Given the description of an element on the screen output the (x, y) to click on. 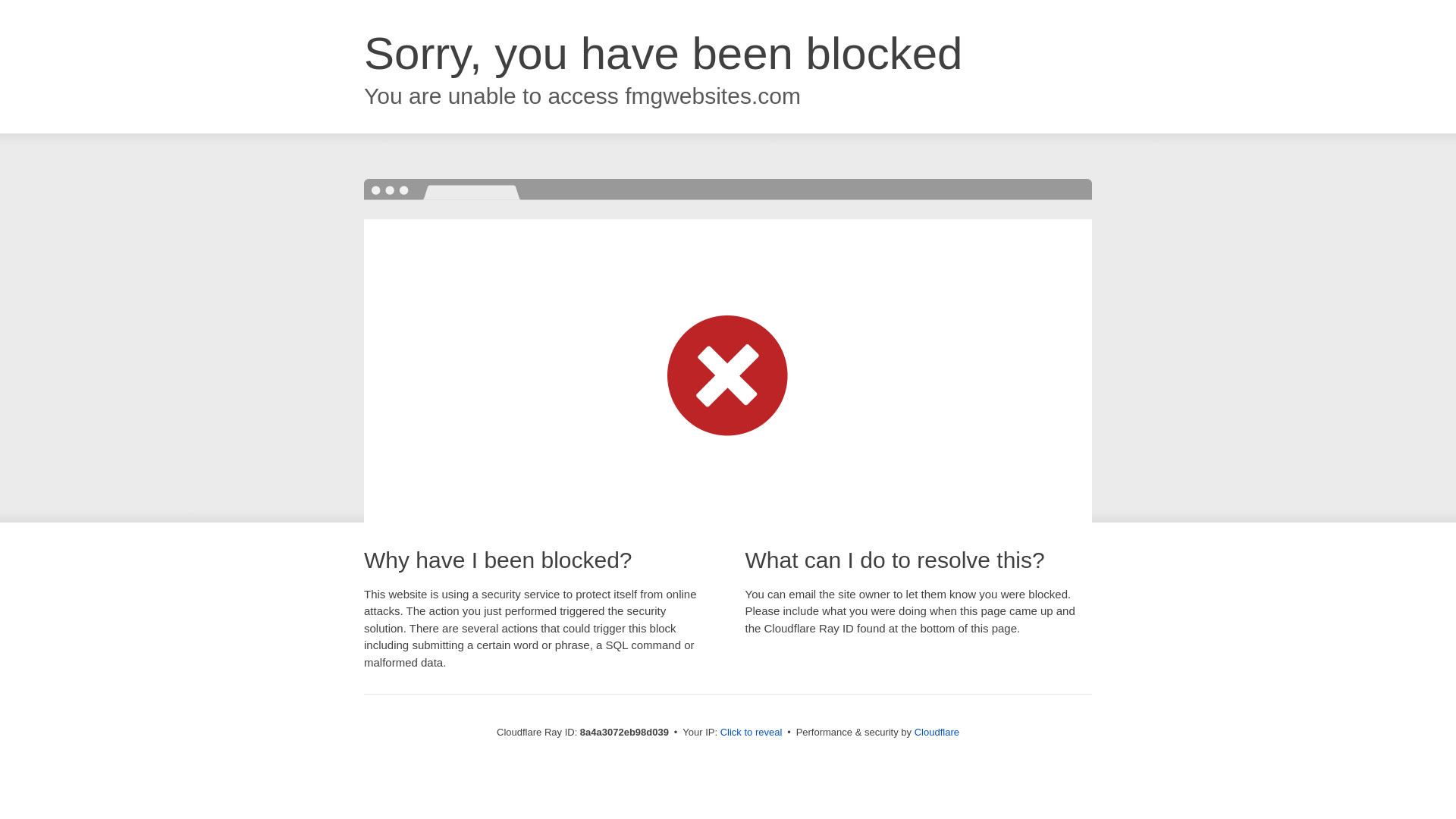
Cloudflare (936, 731)
Click to reveal (751, 732)
